Given the description of an element on the screen output the (x, y) to click on. 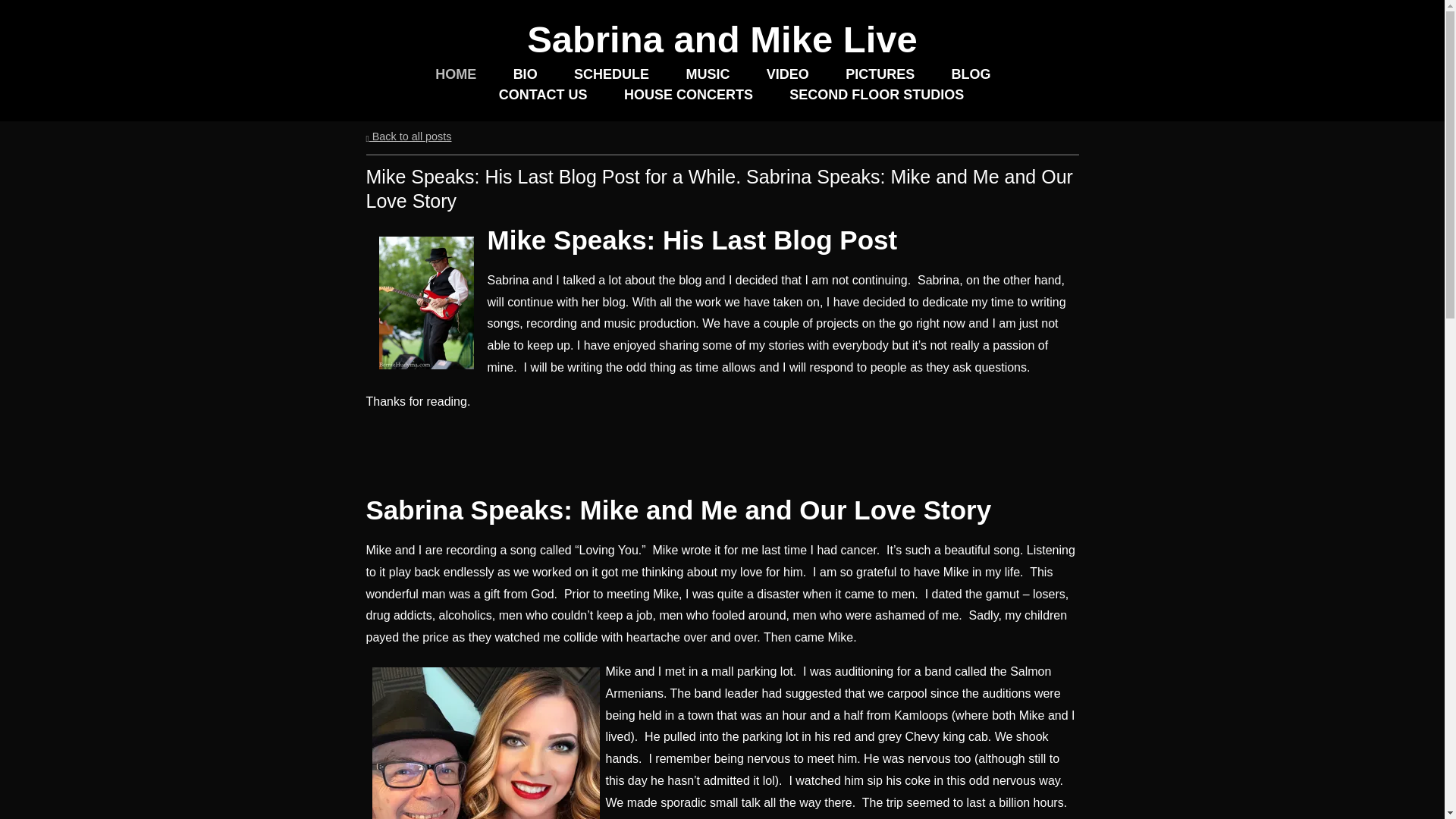
Back to all posts (408, 136)
BLOG (971, 74)
SECOND FLOOR STUDIOS (876, 95)
Sabrina and Mike Live (722, 39)
BIO (525, 74)
HOME (455, 74)
HOUSE CONCERTS (688, 95)
PICTURES (879, 74)
CONTACT US (543, 95)
SCHEDULE (611, 74)
VIDEO (788, 74)
MUSIC (707, 74)
